Given the description of an element on the screen output the (x, y) to click on. 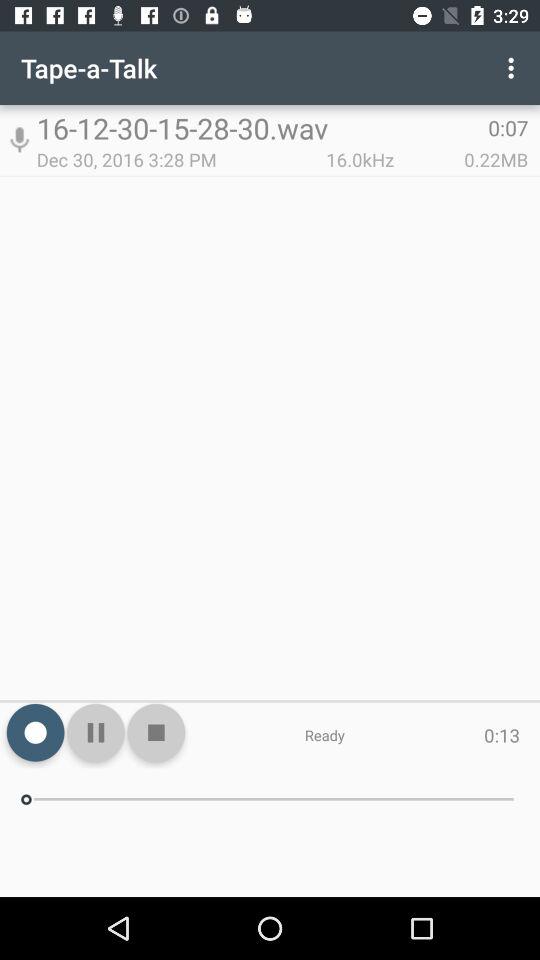
open item to the left of ready icon (156, 732)
